Given the description of an element on the screen output the (x, y) to click on. 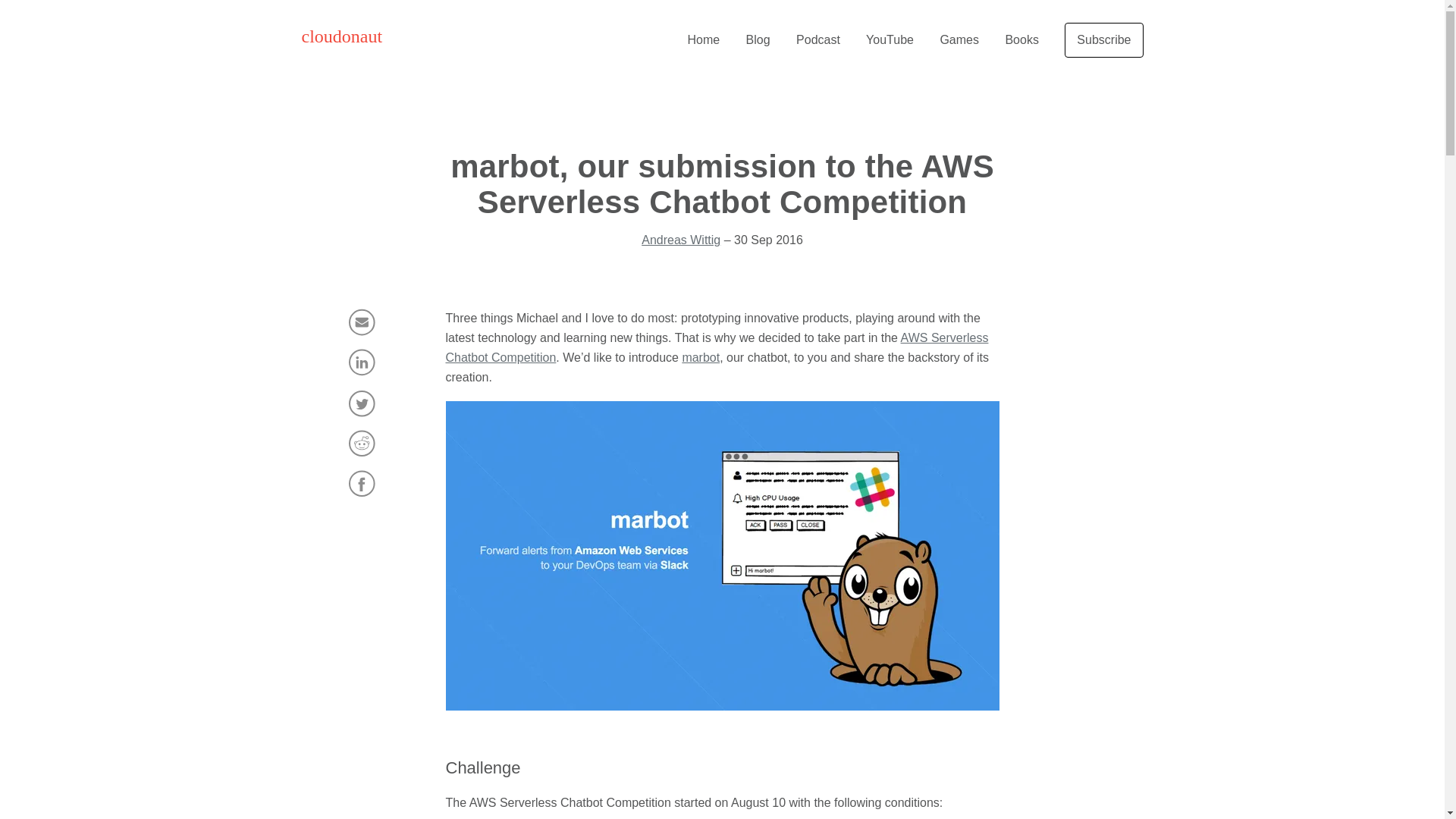
Home (703, 39)
Subscribe (1103, 39)
marbot (700, 357)
AWS Serverless Chatbot Competition (716, 347)
Share on LinkedIn (362, 361)
Share on Twitter (362, 402)
Blog (757, 39)
Podcast (818, 39)
Share on Facebook (362, 483)
Andreas Wittig (681, 239)
Books (1021, 39)
cloudonaut (341, 35)
Games (958, 39)
YouTube (890, 39)
